Given the description of an element on the screen output the (x, y) to click on. 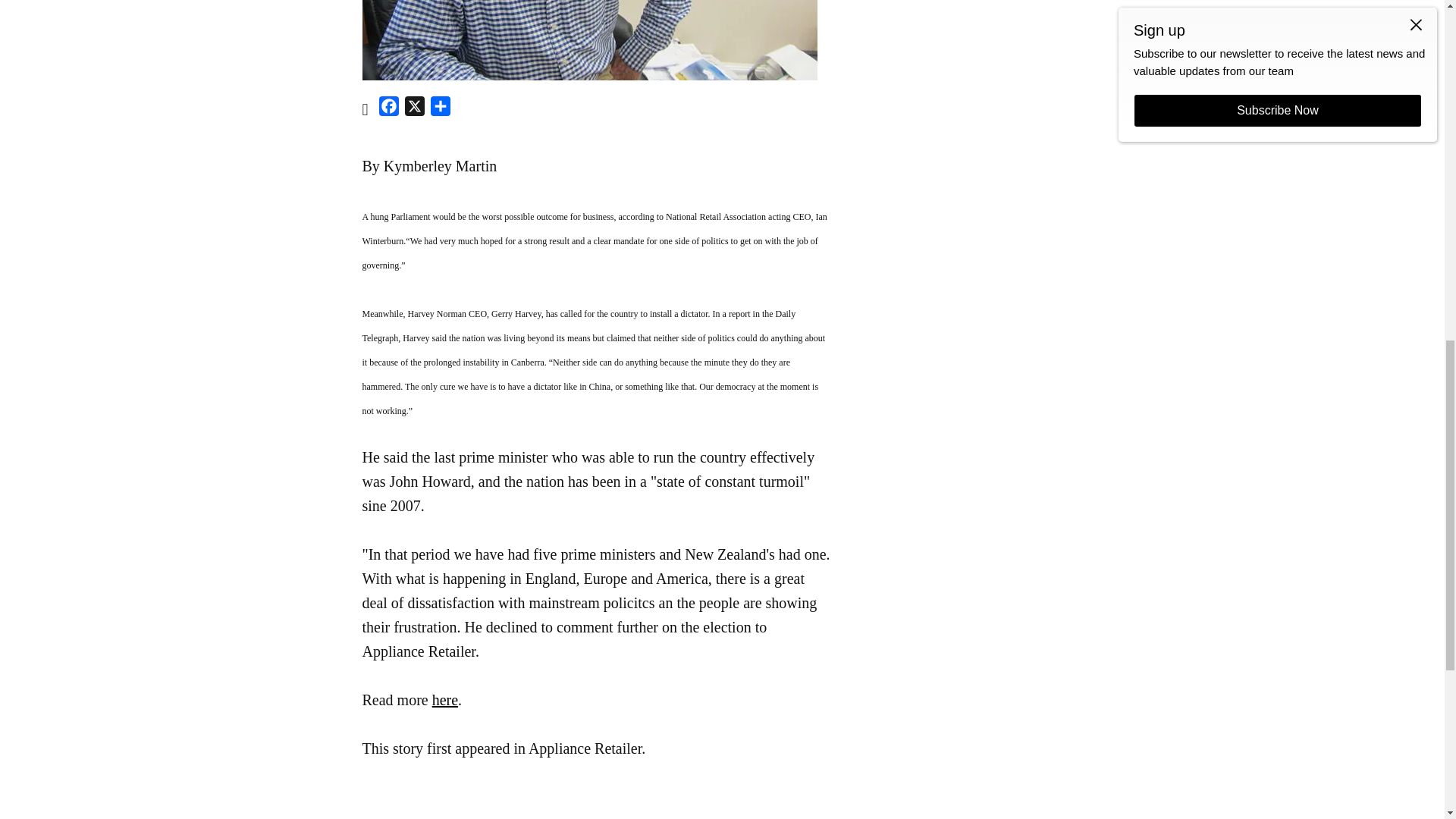
Facebook (388, 109)
X (414, 109)
3rd party ad content (722, 45)
